Given the description of an element on the screen output the (x, y) to click on. 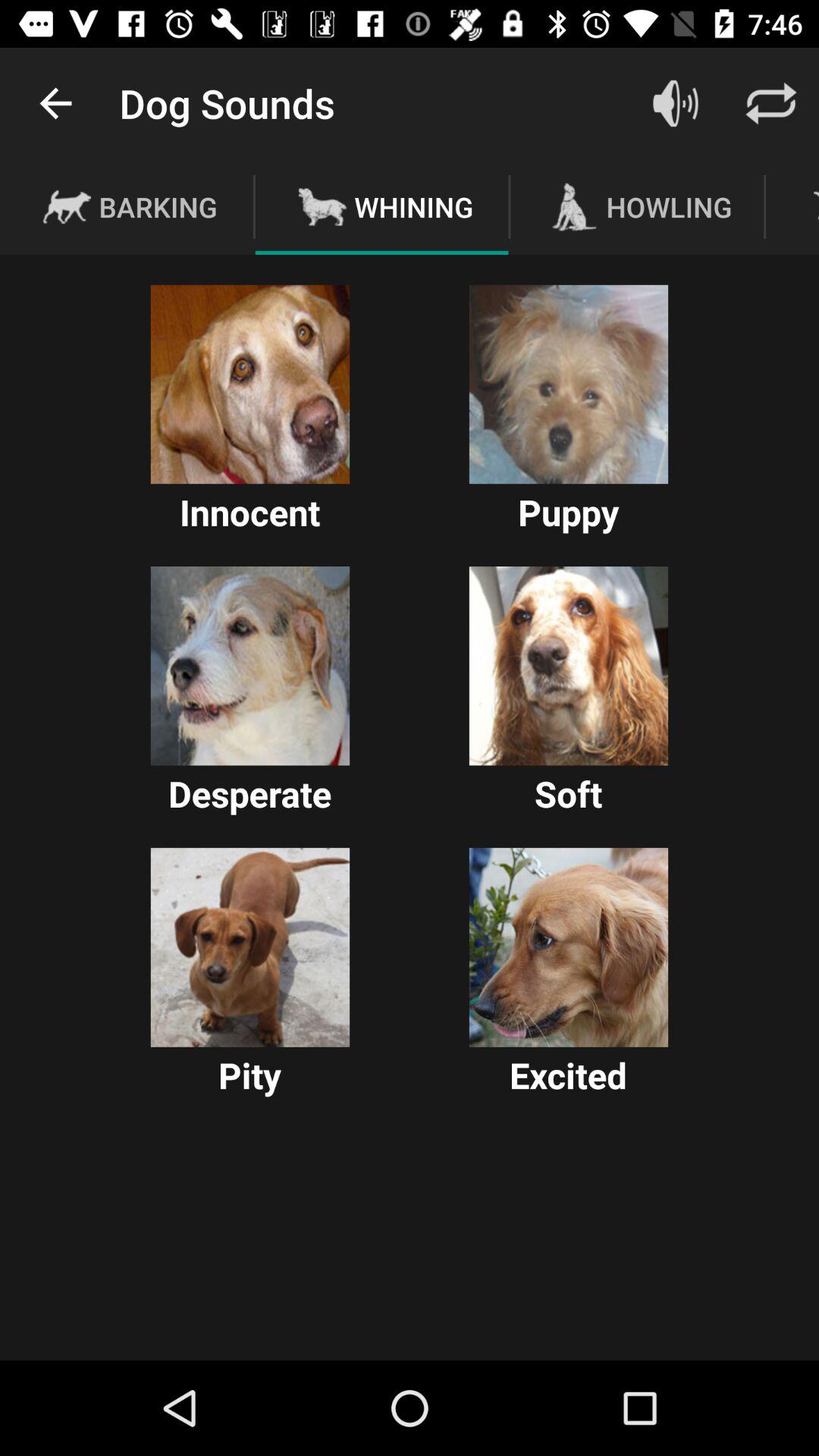
select option emojios (249, 947)
